Given the description of an element on the screen output the (x, y) to click on. 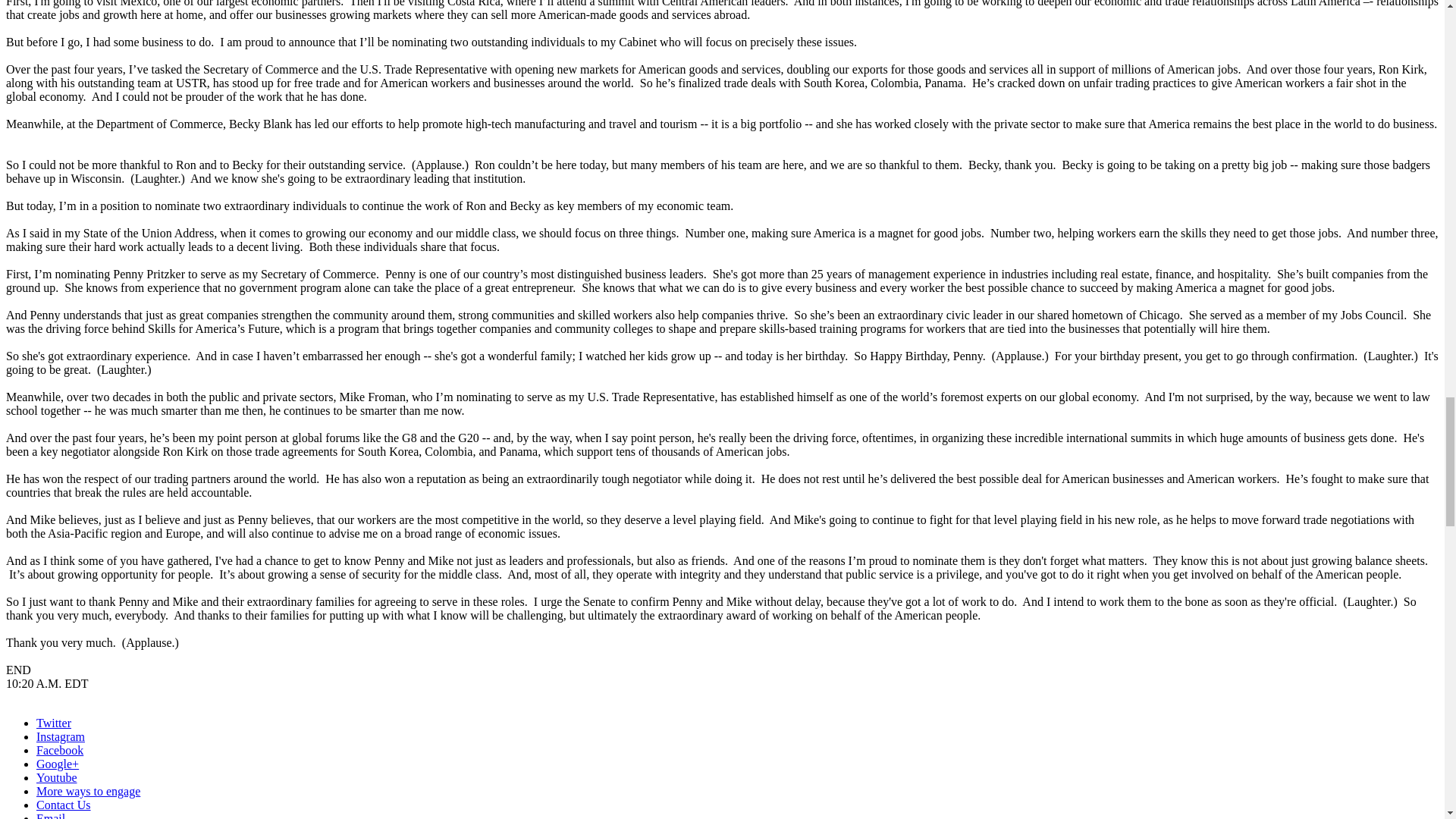
Like the Whitehouse on Facebook. (59, 749)
Follow the Whitehouse on Twitter. (53, 722)
Visit The Whitehouse Channel on Youtube. (56, 777)
Email the Whitehouse. (50, 815)
See the Whitehouse on Instagram. (60, 736)
Contact the Whitehouse. (63, 804)
More ways to engage with the Whitehouse. (87, 790)
